Given the description of an element on the screen output the (x, y) to click on. 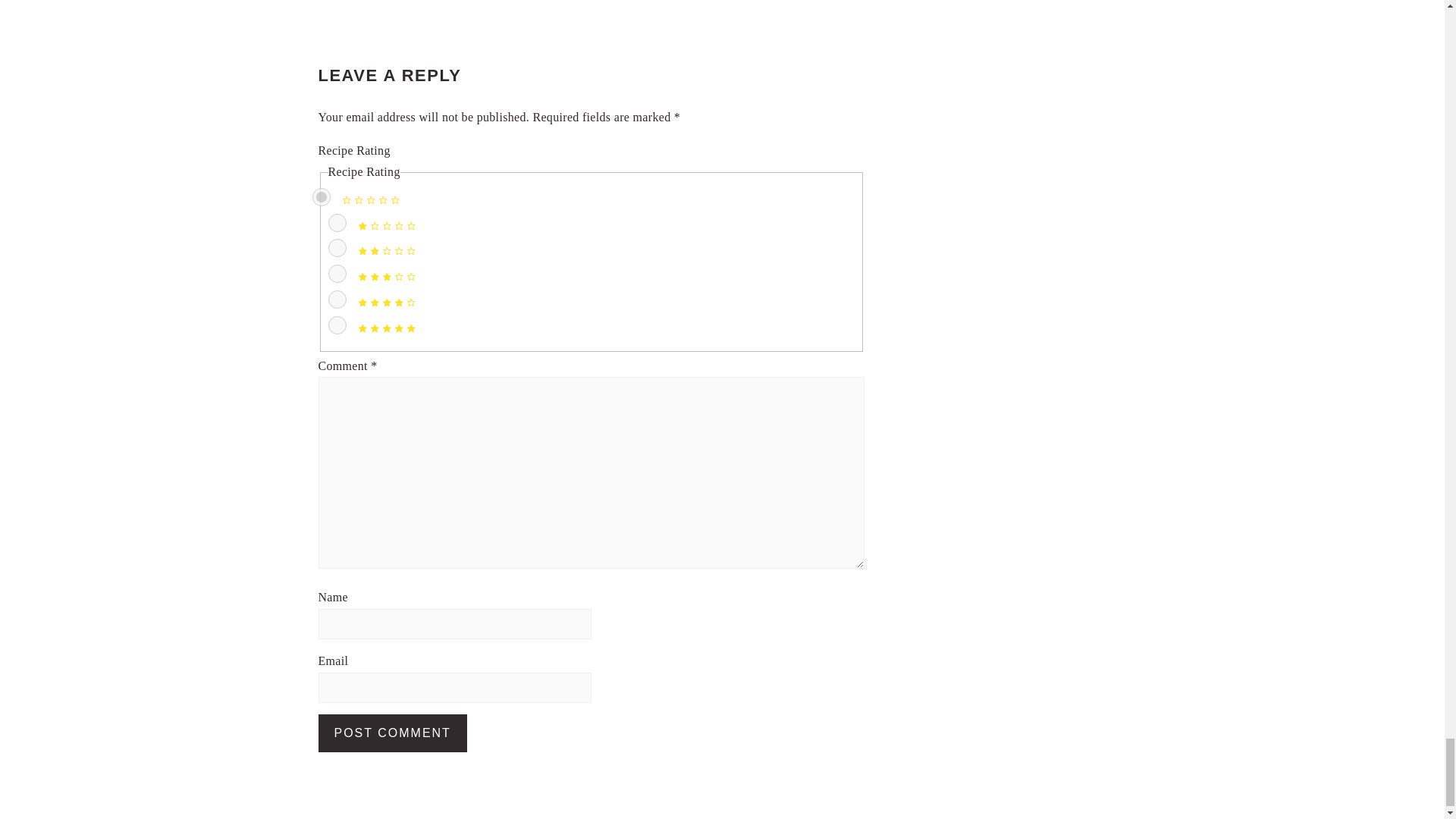
0 (321, 197)
5 (336, 325)
1 (336, 222)
Post Comment (392, 733)
2 (336, 248)
3 (336, 273)
4 (336, 299)
